Given the description of an element on the screen output the (x, y) to click on. 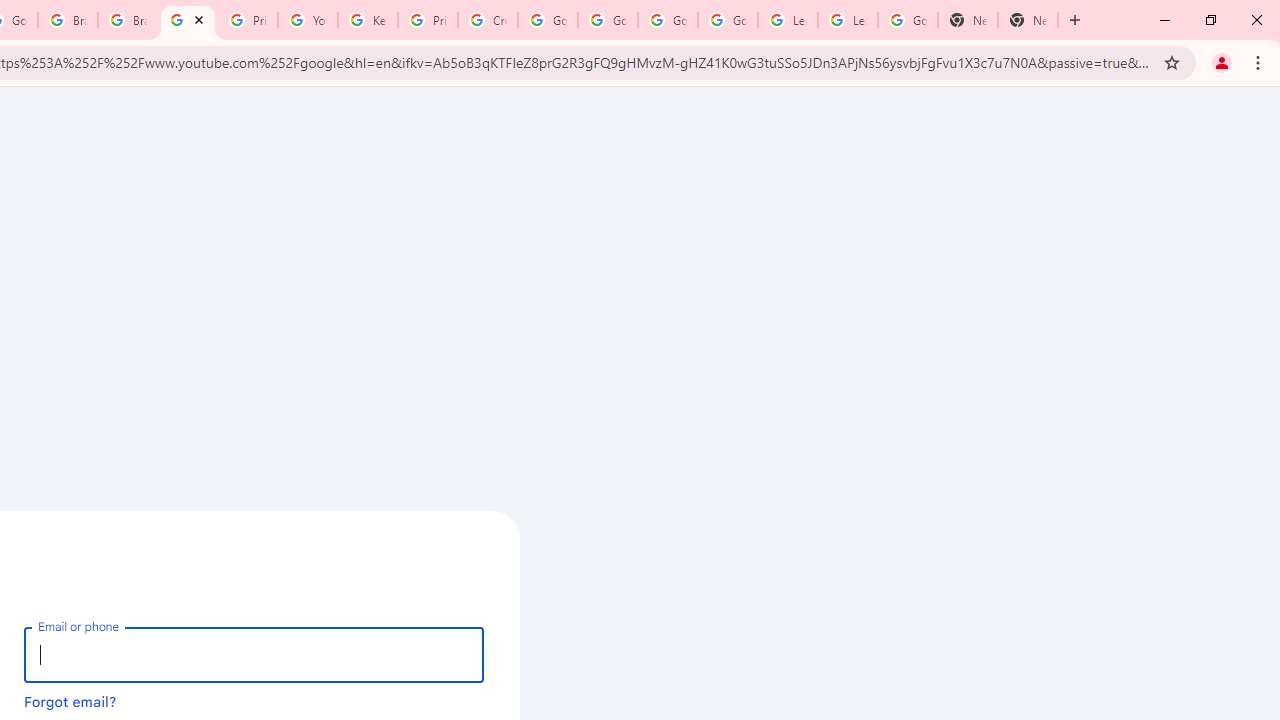
Google Account Help (667, 20)
Google Account Help (607, 20)
YouTube (187, 20)
Forgot email? (70, 701)
Google Account (908, 20)
New Tab (1028, 20)
